Given the description of an element on the screen output the (x, y) to click on. 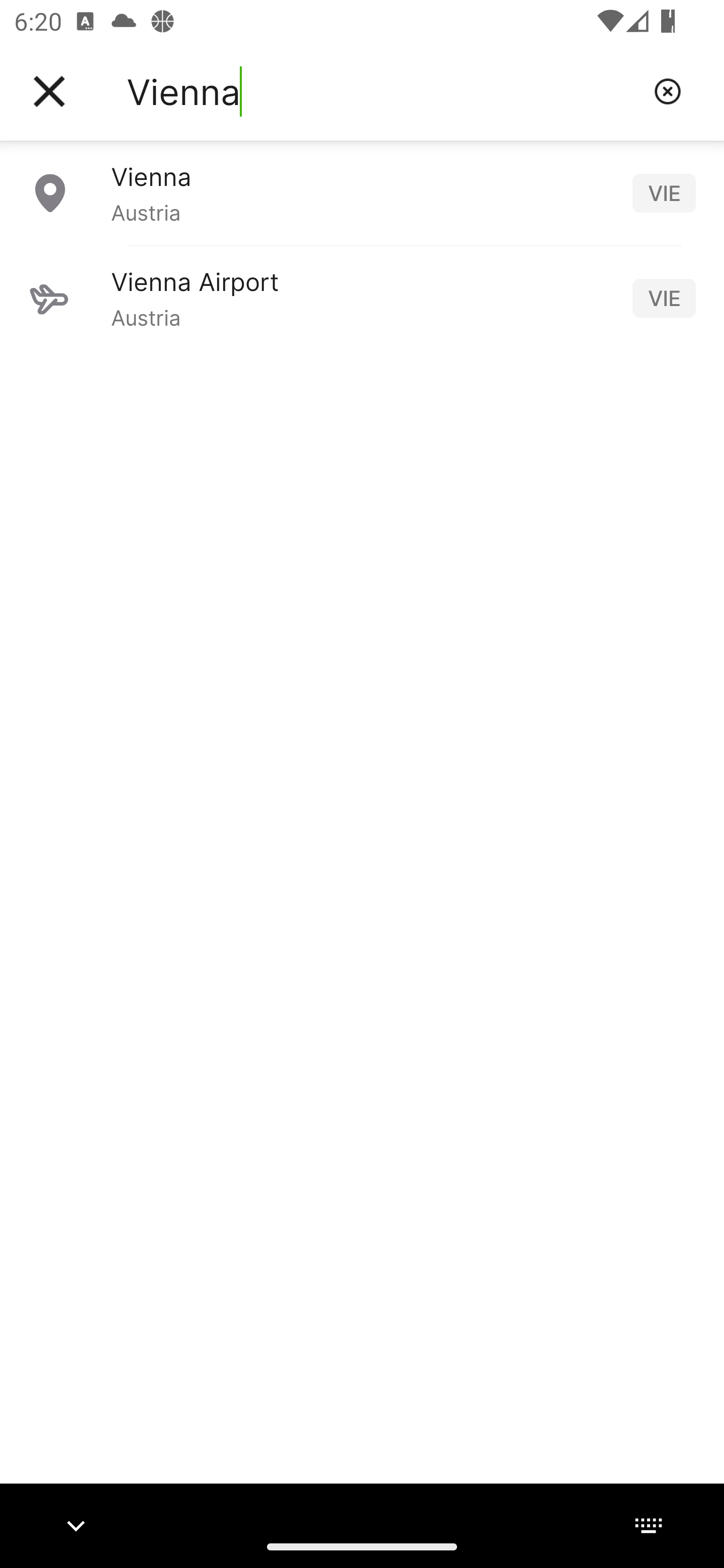
Vienna (382, 91)
Vienna Austria VIE (362, 192)
Vienna Airport Austria VIE (362, 297)
